Given the description of an element on the screen output the (x, y) to click on. 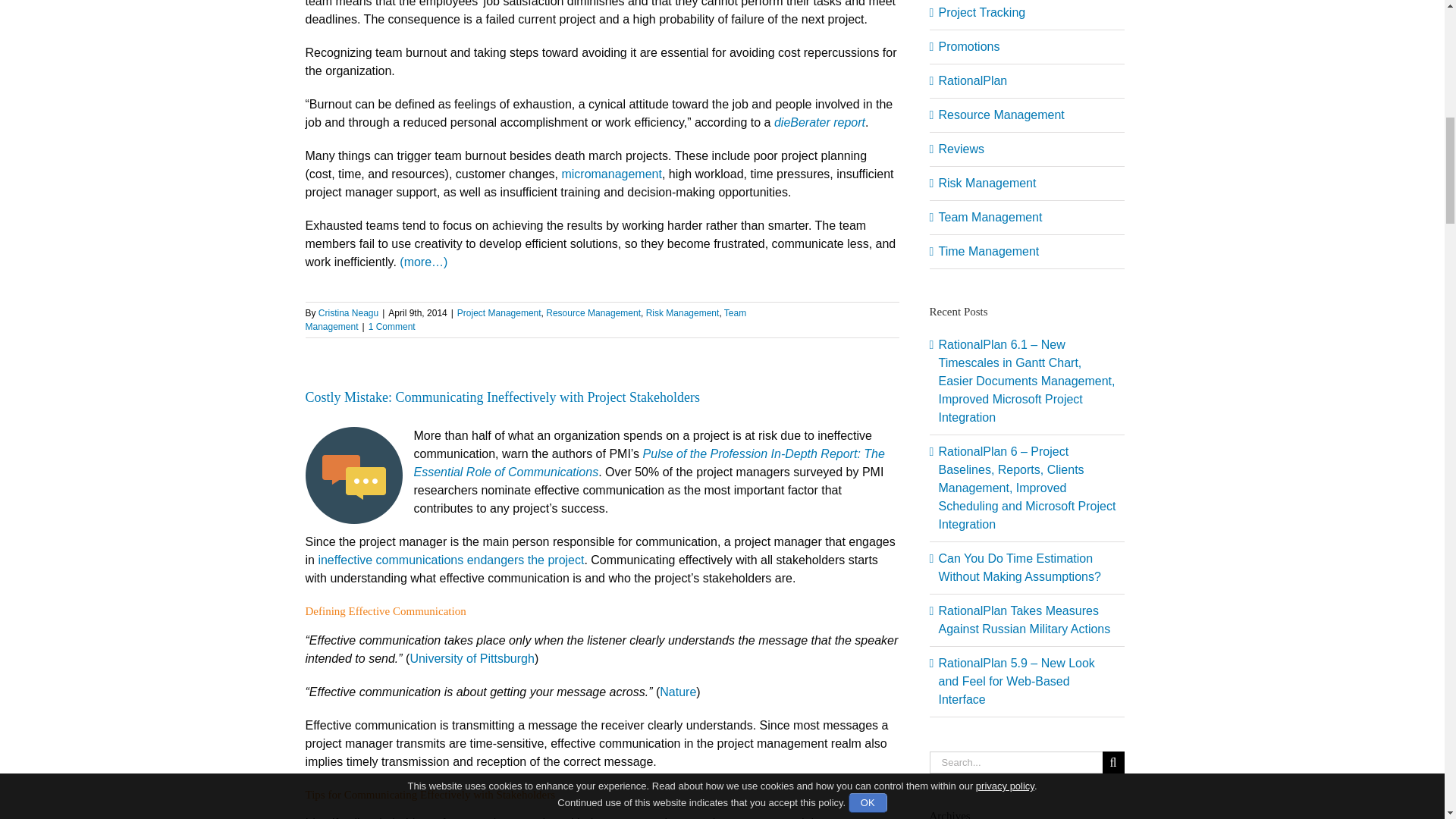
1 Comment (391, 326)
Nature (677, 691)
University of Pittsburgh (471, 658)
Project Management (499, 312)
Risk Management (682, 312)
micromanagement (611, 173)
Resource Management (593, 312)
Team Management (524, 319)
Cristina Neagu (348, 312)
Communication in Project Management (352, 475)
ineffective communications endangers the project (450, 559)
Posts by Cristina Neagu (348, 312)
dieBerater report (819, 122)
